Given the description of an element on the screen output the (x, y) to click on. 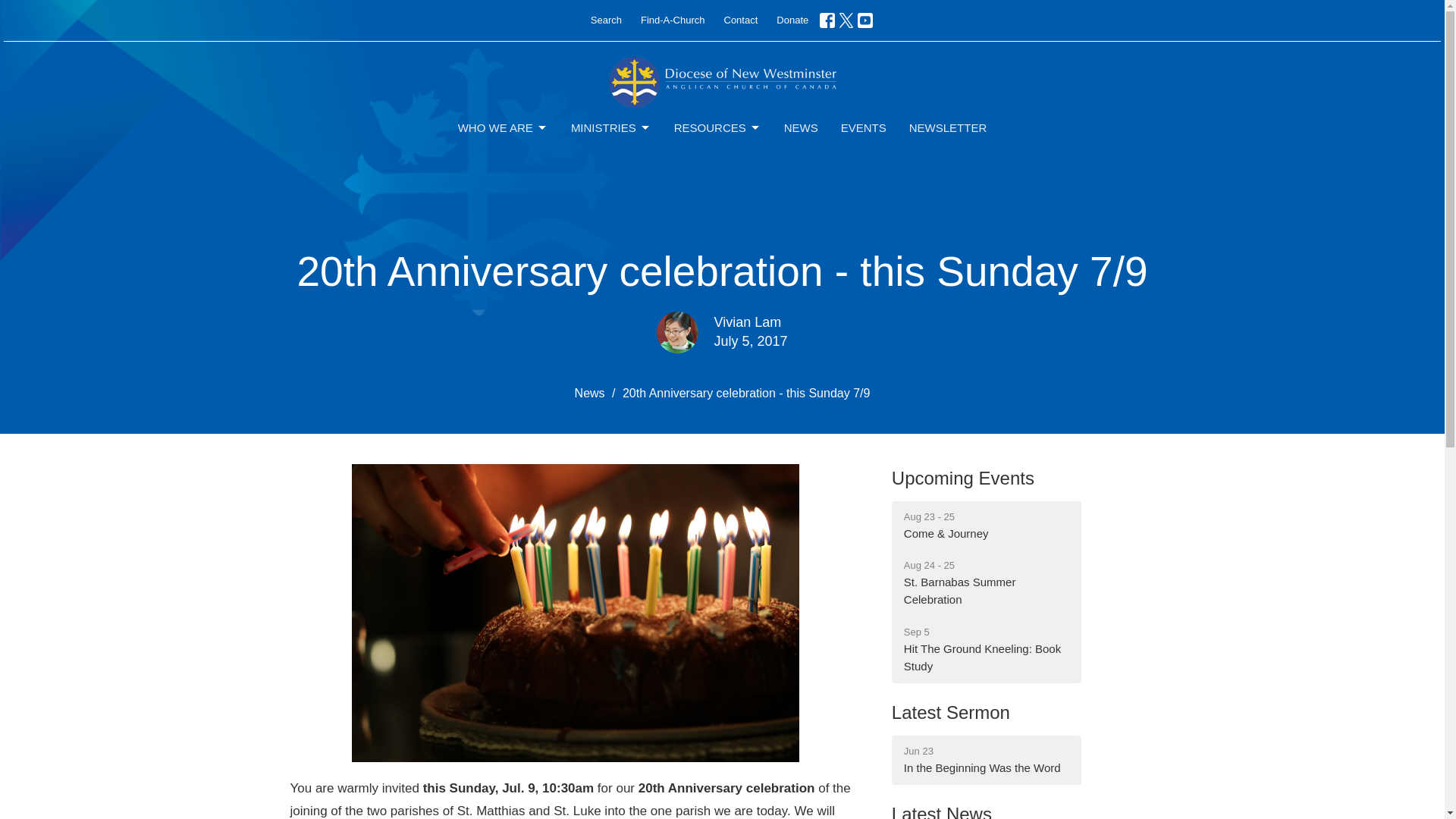
Donate (791, 20)
RESOURCES (986, 583)
Contact (717, 127)
NEWSLETTER (740, 20)
MINISTRIES (947, 127)
Upcoming Events (610, 127)
WHO WE ARE (962, 477)
Find-A-Church (503, 127)
NEWS (673, 20)
